Given the description of an element on the screen output the (x, y) to click on. 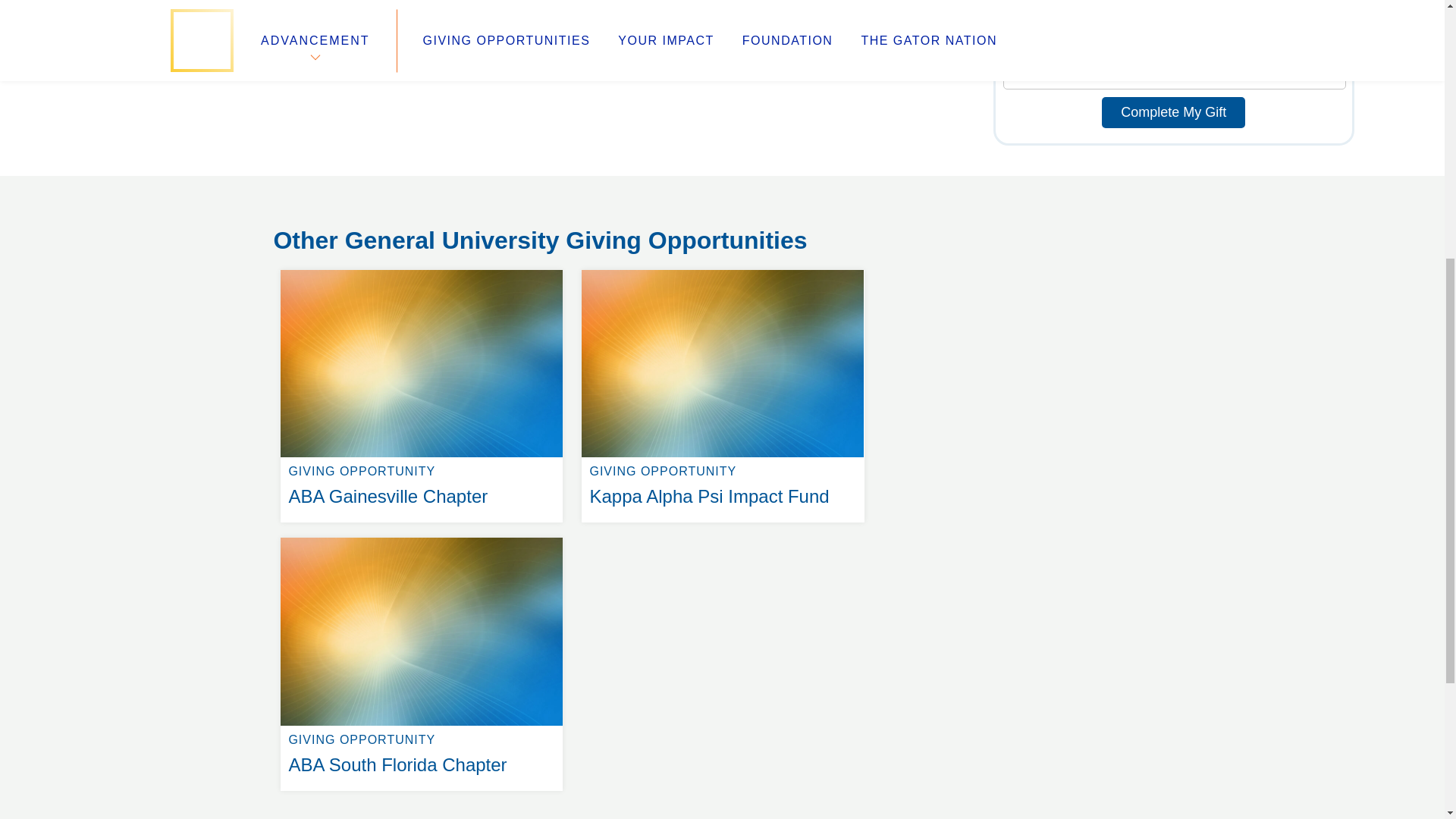
Advancement HUB (421, 537)
Join Our Team (560, 191)
University of Florida (317, 191)
Contact Us (421, 269)
Foundation Board (840, 191)
Disclosures (306, 245)
Privacy Policy (327, 227)
Complete My Gift (537, 245)
Staff Directory (545, 227)
Advancement Toolkit (721, 269)
